Given the description of an element on the screen output the (x, y) to click on. 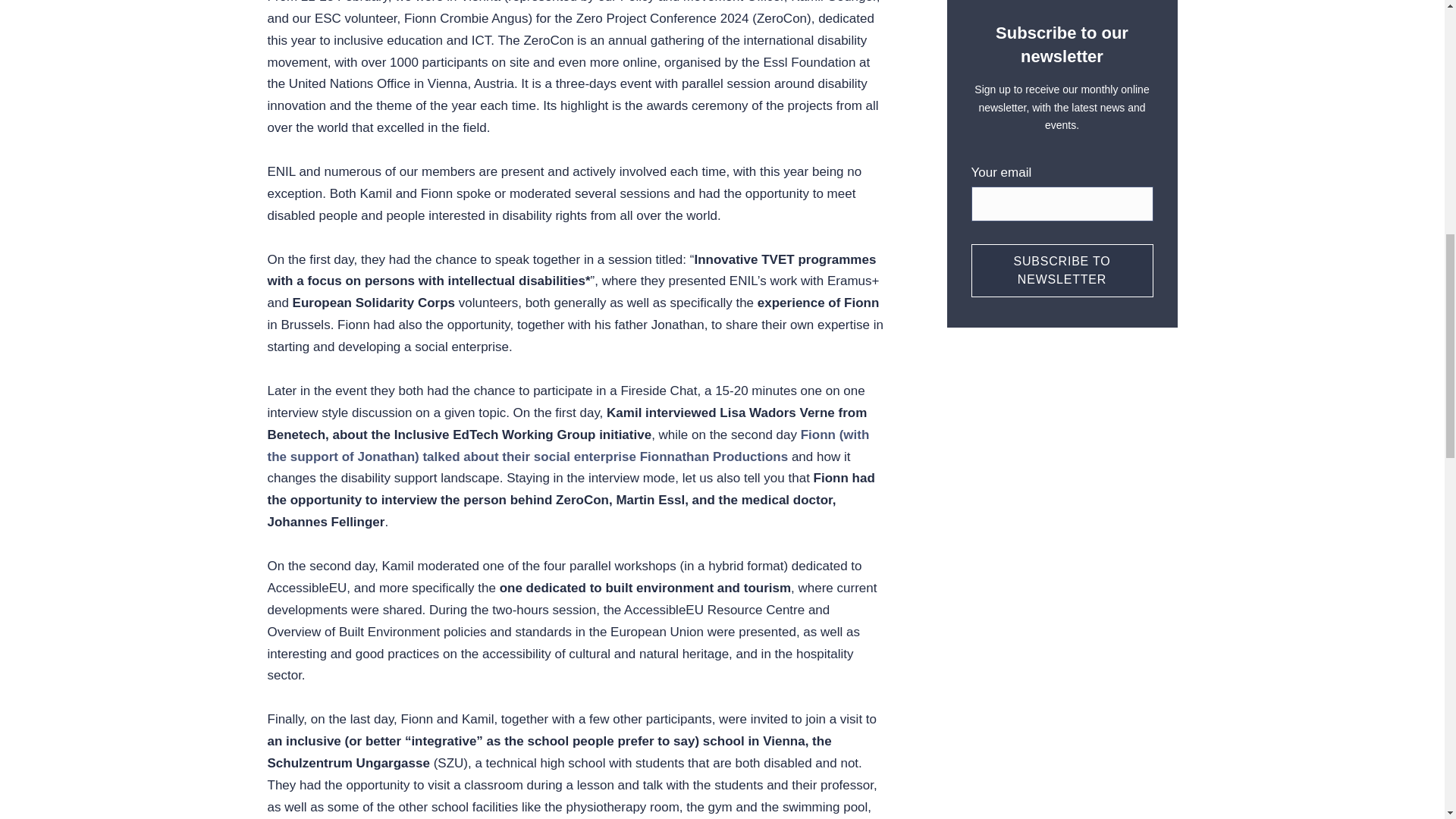
Subscribe to newsletter (1062, 270)
